Given the description of an element on the screen output the (x, y) to click on. 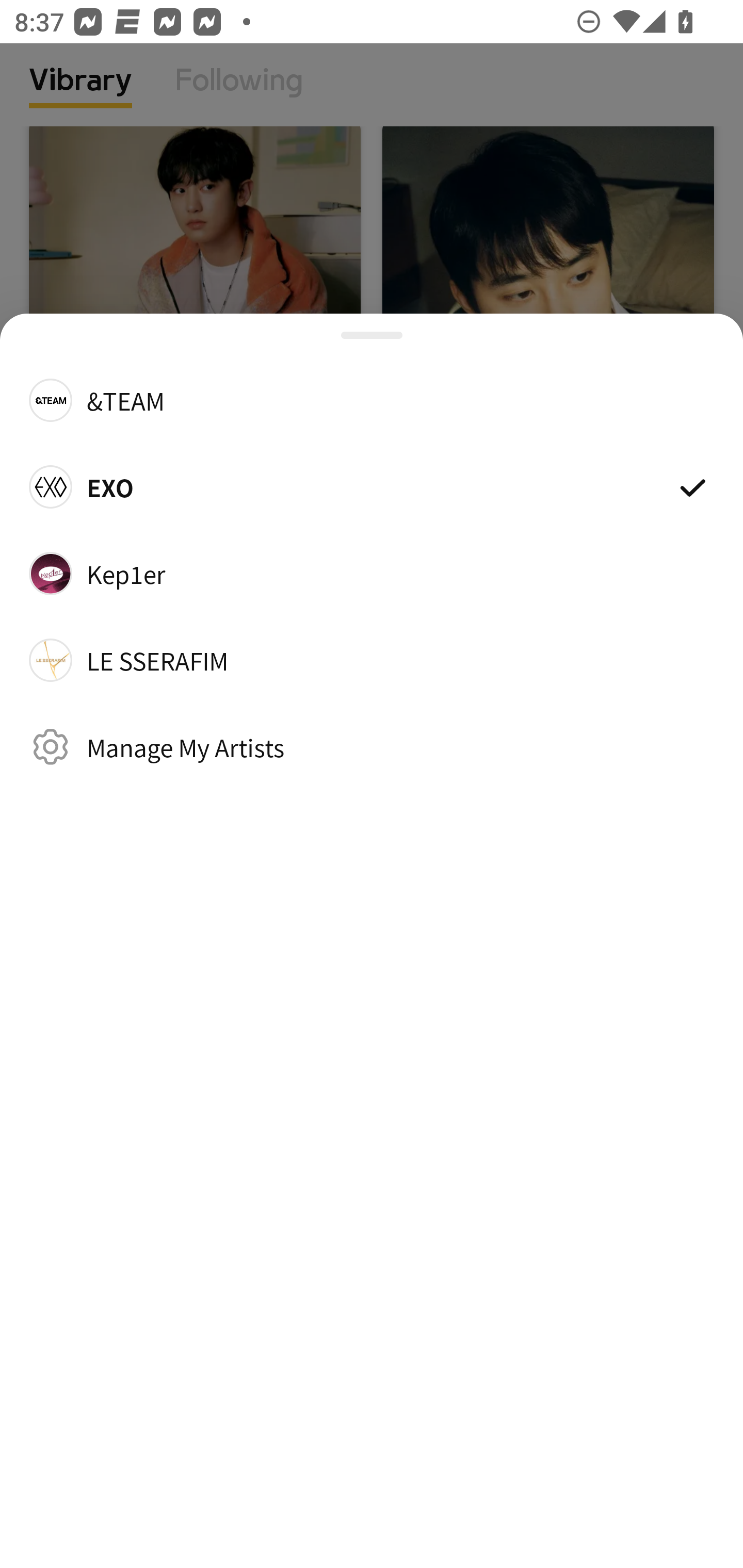
&TEAM (371, 399)
EXO (371, 486)
Kep1er (371, 573)
LE SSERAFIM (371, 660)
Manage My Artists (371, 746)
